Given the description of an element on the screen output the (x, y) to click on. 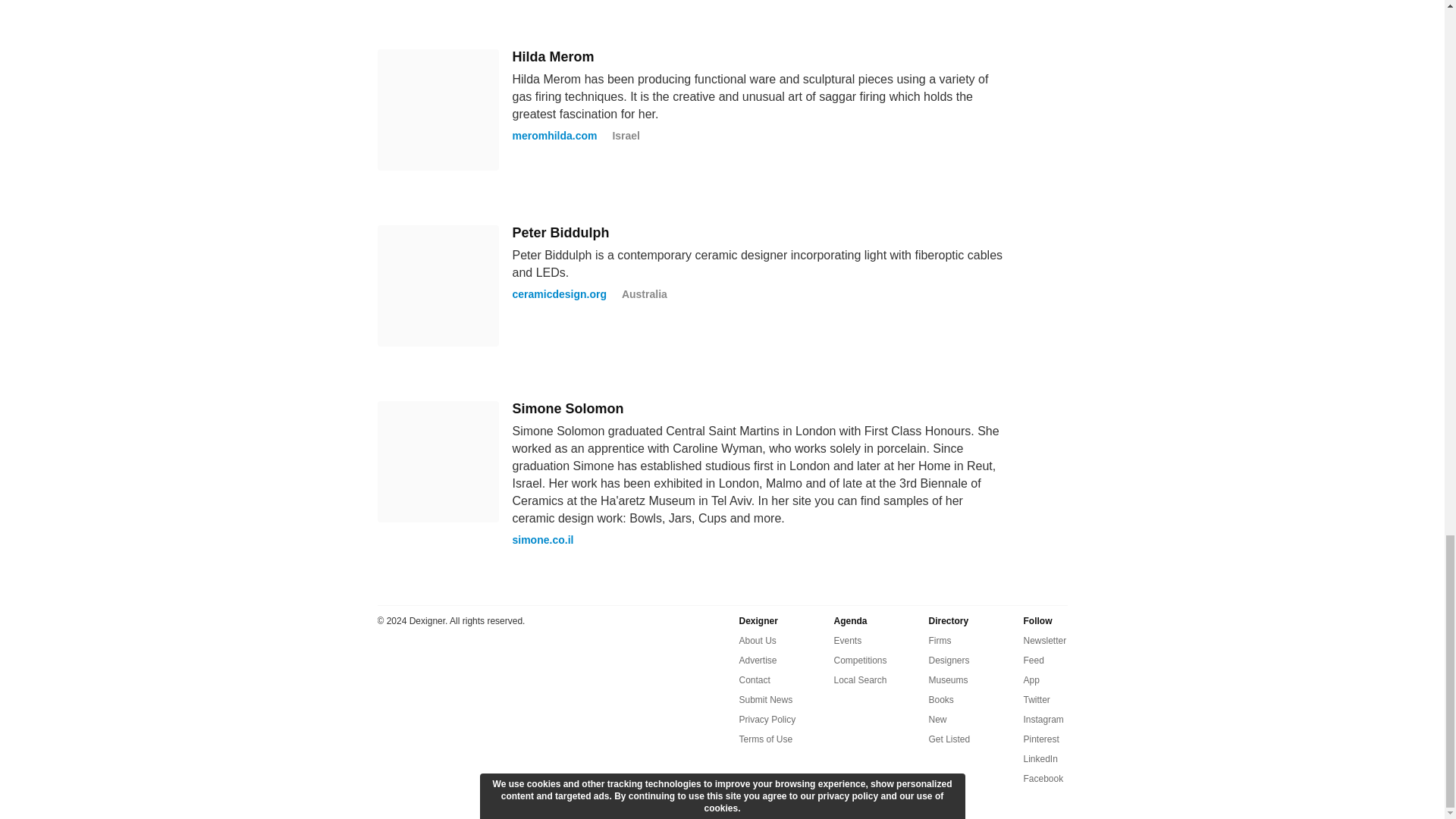
Hilda Merom (553, 56)
meromhilda.com (554, 135)
ceramicdesign.org (559, 294)
Peter Biddulph (561, 232)
